Given the description of an element on the screen output the (x, y) to click on. 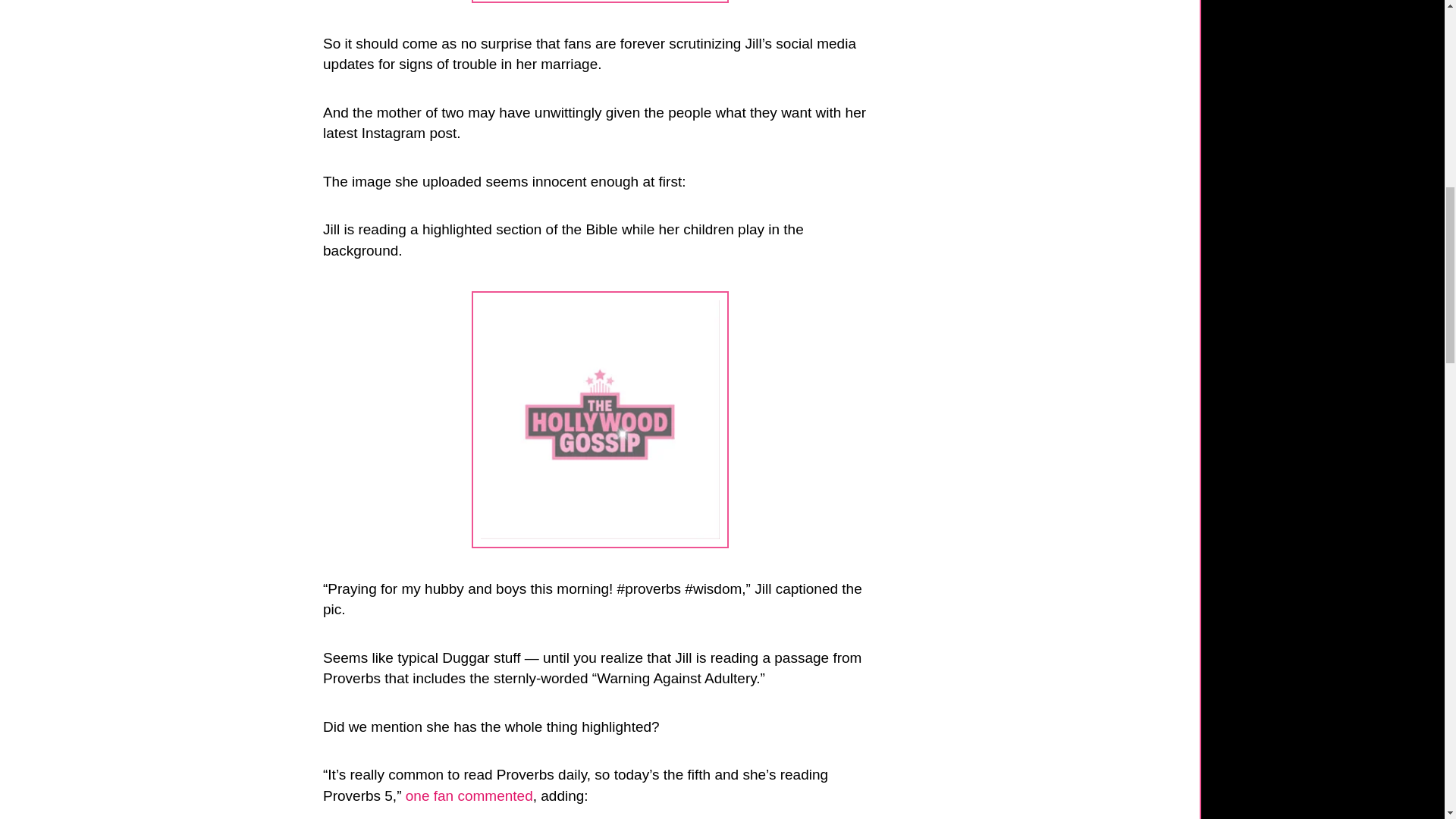
one fan commented (469, 795)
